Given the description of an element on the screen output the (x, y) to click on. 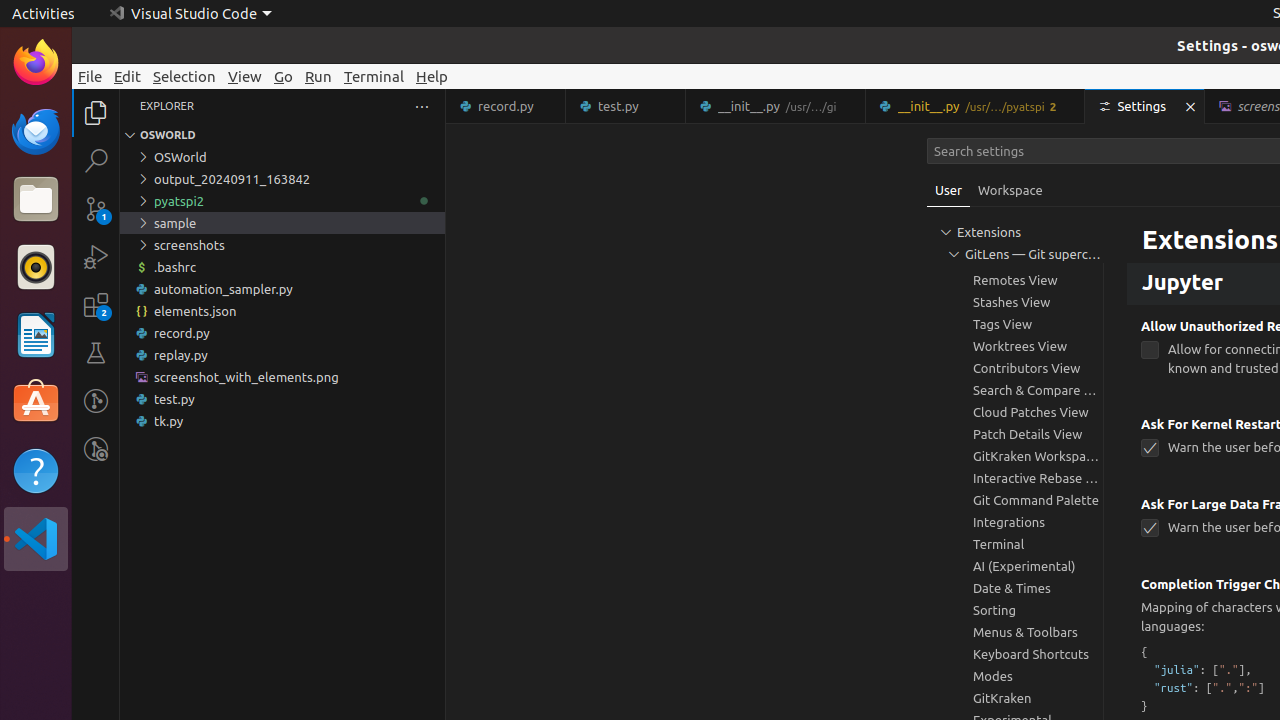
OSWorld Element type: tree-item (282, 157)
GitLens Inspect Element type: page-tab (96, 449)
Line History View, group Element type: tree-item (1015, 236)
Testing Element type: page-tab (96, 353)
